Given the description of an element on the screen output the (x, y) to click on. 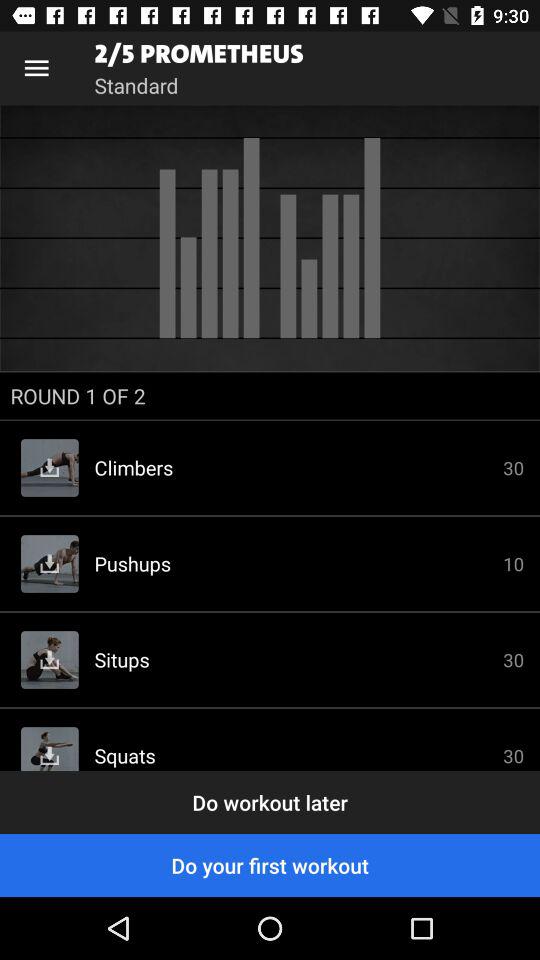
click item above round 1 of (270, 238)
